Given the description of an element on the screen output the (x, y) to click on. 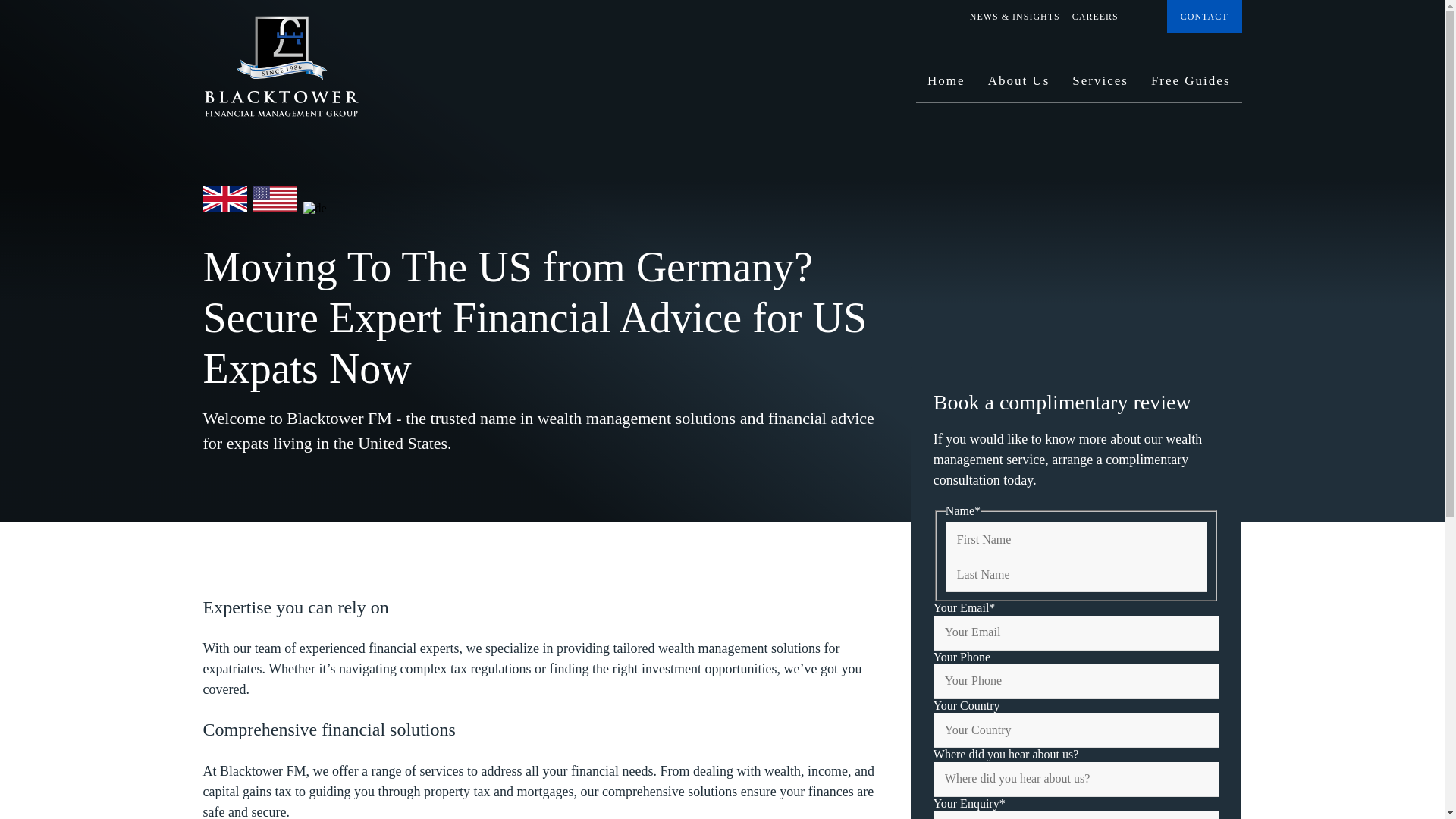
About Us (1018, 87)
Home (945, 87)
Free Guides (1190, 87)
Services (1100, 87)
CONTACT (1204, 16)
CAREERS (1094, 16)
